Given the description of an element on the screen output the (x, y) to click on. 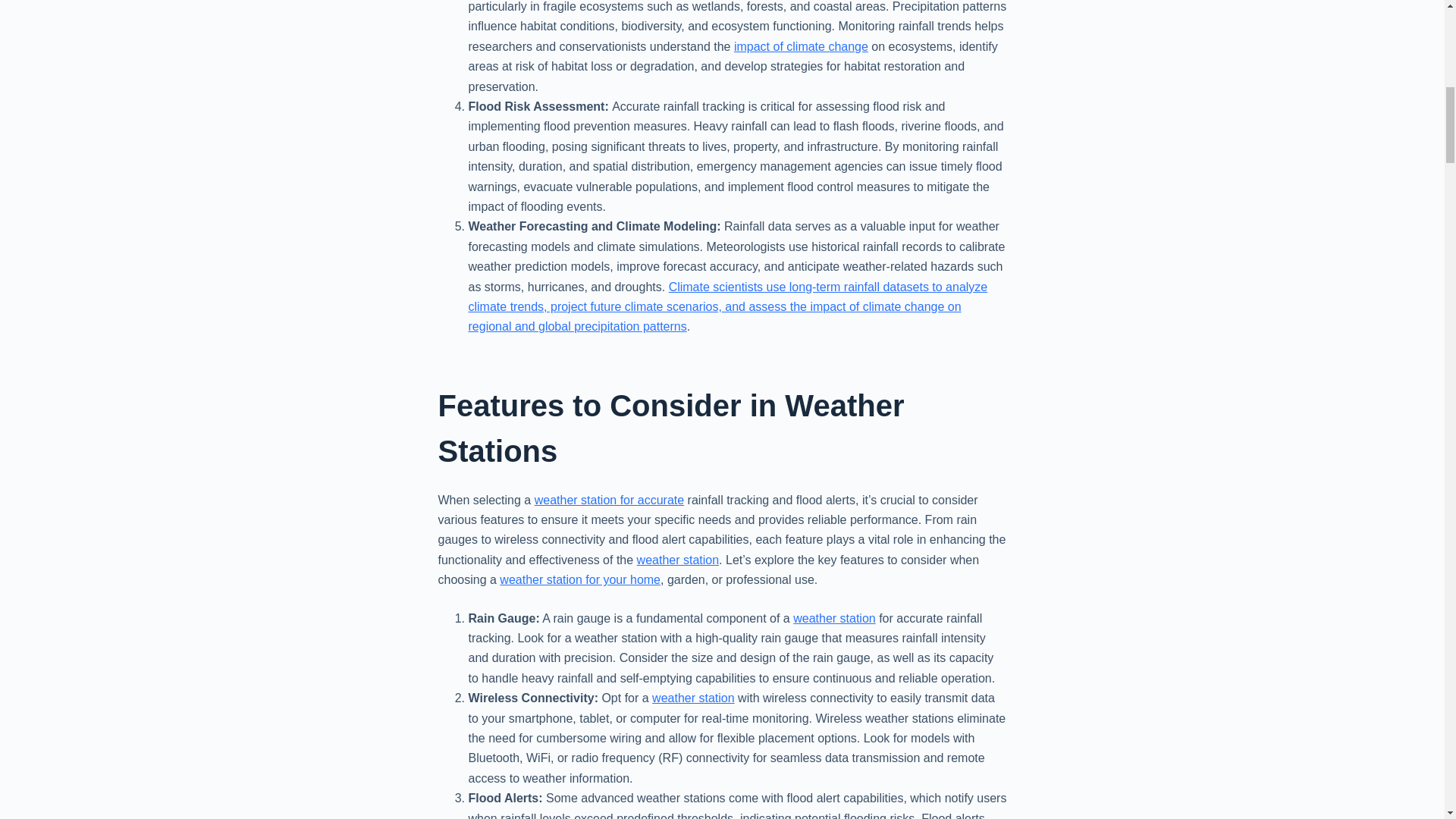
weather station for your home (580, 579)
weather station (693, 697)
weather station for accurate (609, 499)
weather station (834, 617)
weather station (678, 559)
impact of climate change (800, 46)
